Given the description of an element on the screen output the (x, y) to click on. 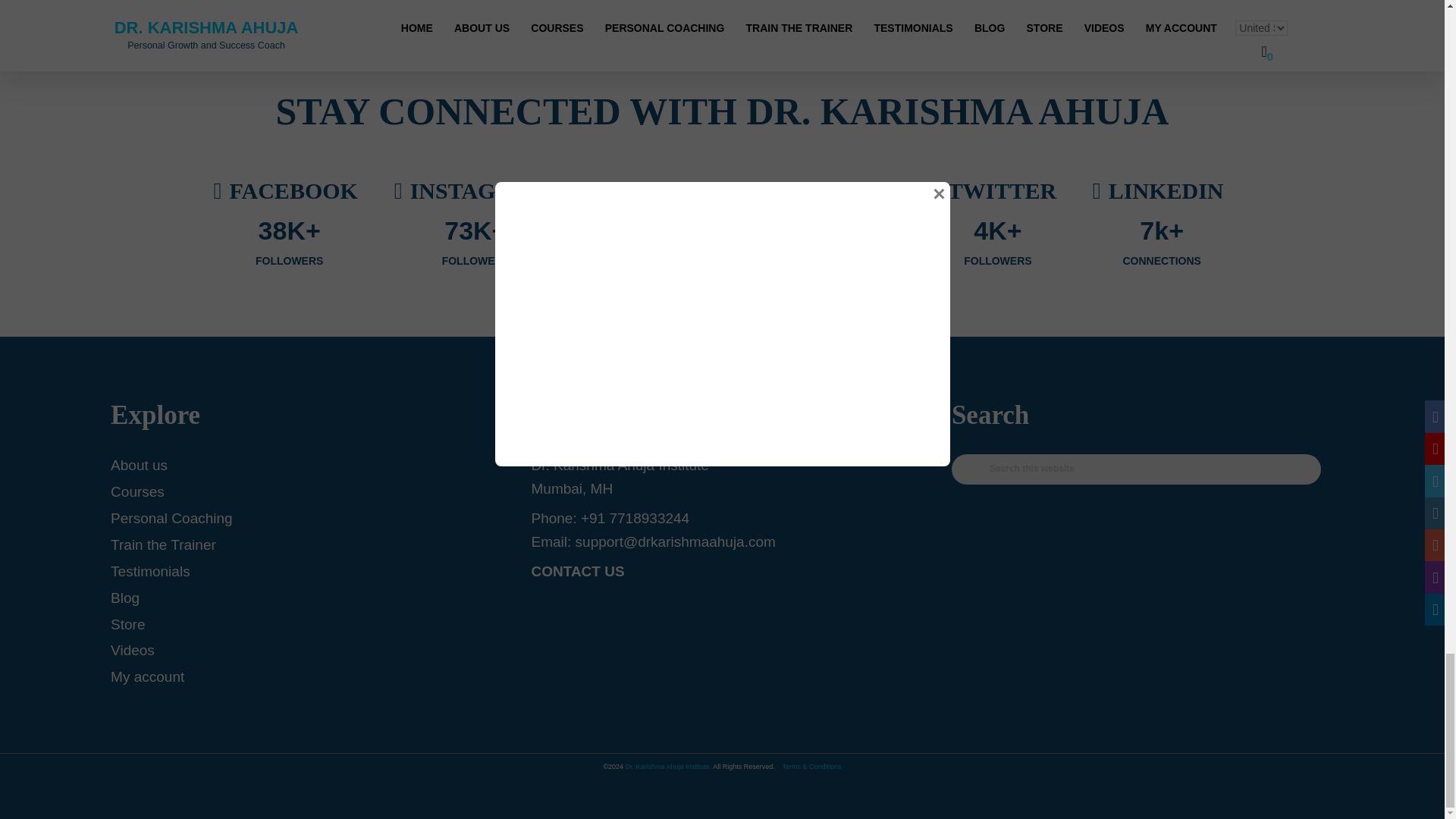
Instagram (475, 224)
Pinterest (662, 224)
linkedin (1161, 224)
youtube (834, 224)
Facebook (289, 224)
Twitter (997, 224)
